Given the description of an element on the screen output the (x, y) to click on. 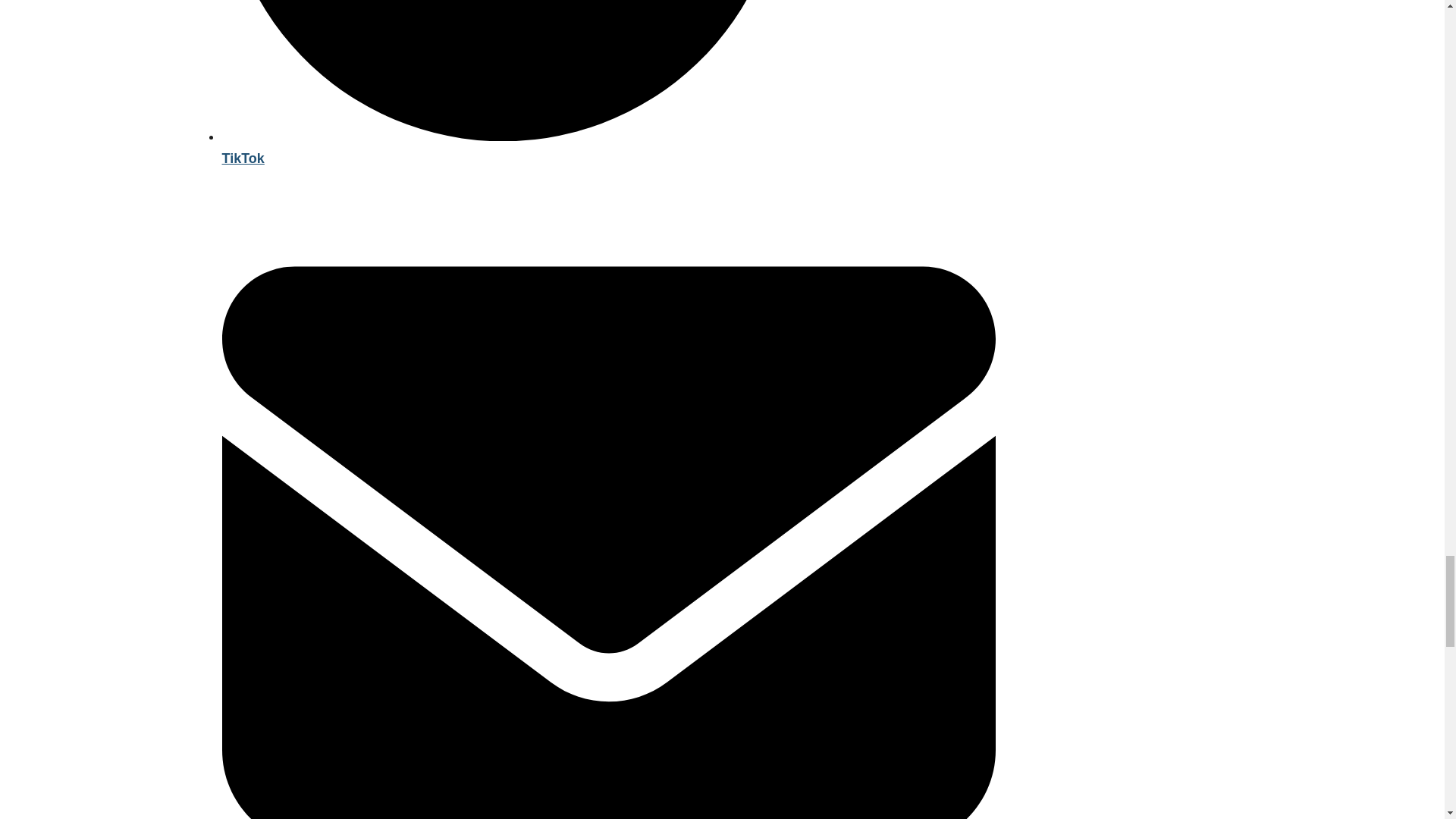
TikTok (607, 147)
